Given the description of an element on the screen output the (x, y) to click on. 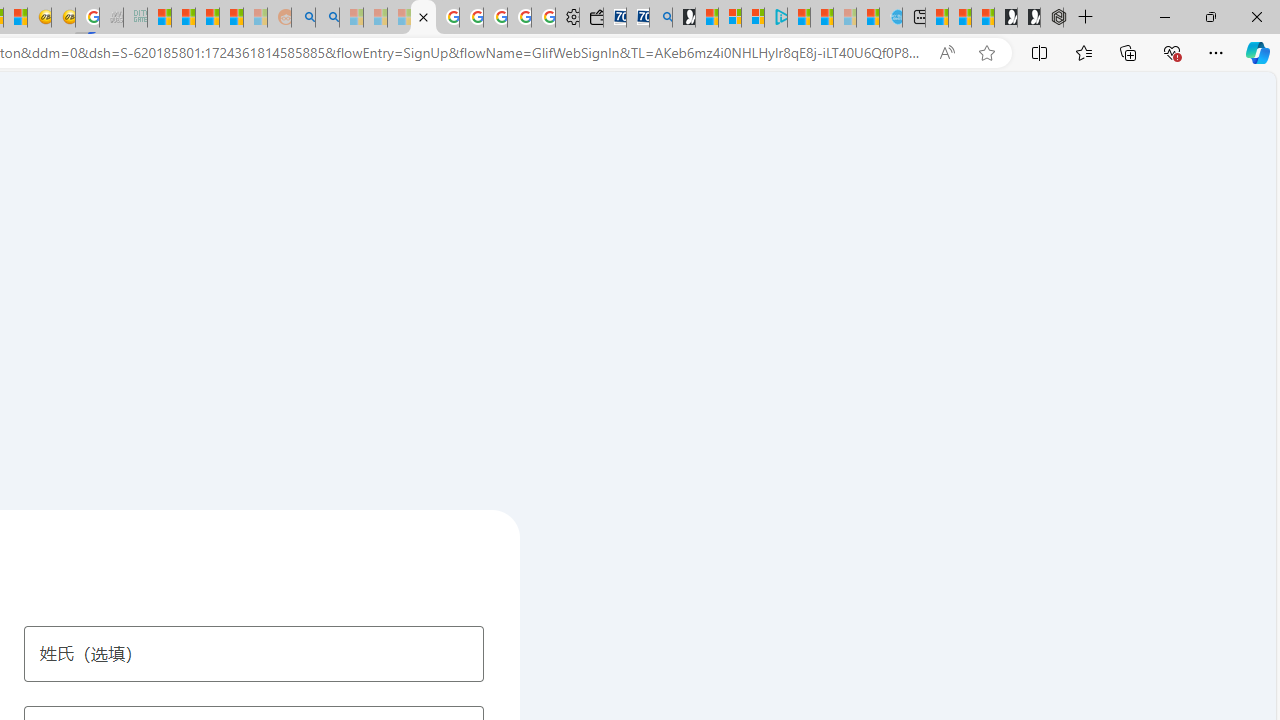
Nordace - Nordace Siena Is Not An Ordinary Backpack (1051, 17)
Navy Quest (110, 17)
MSNBC - MSN (159, 17)
Microsoft Start Gaming (684, 17)
